Given the description of an element on the screen output the (x, y) to click on. 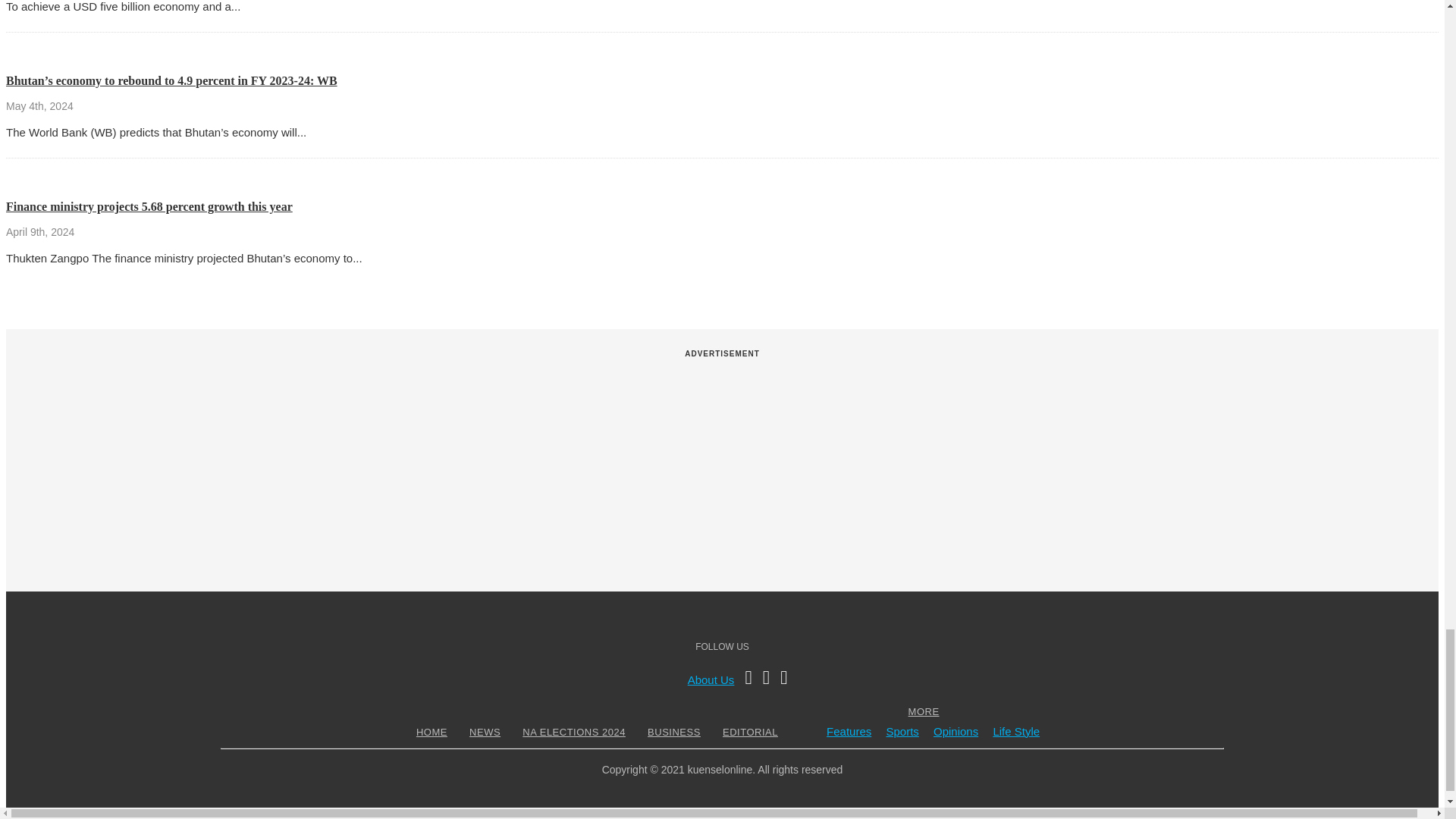
Finance ministry projects 5.68 percent growth this year (148, 205)
NA ELECTIONS 2024 (573, 731)
MORE (923, 711)
EDITORIAL (750, 731)
NEWS (484, 731)
BUSINESS (673, 731)
About Us (711, 679)
HOME (431, 731)
